Given the description of an element on the screen output the (x, y) to click on. 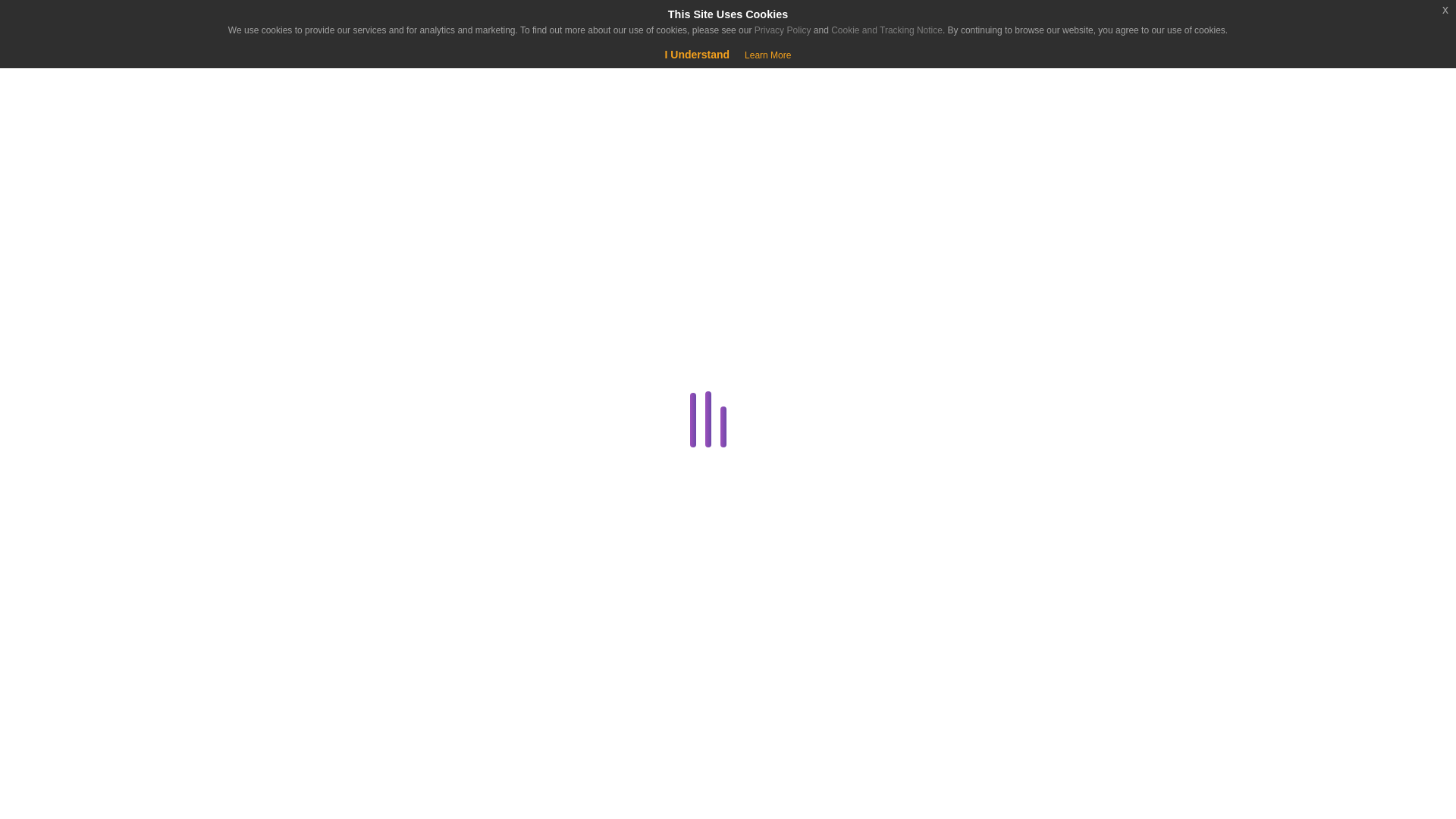
Qeydiyyat (129, 76)
FTP (283, 640)
Databases (281, 458)
Affiliates (283, 312)
Shopping Cart (59, 76)
Domains API (283, 567)
Hesab (93, 23)
Domains and DNS (281, 531)
Billing (281, 349)
Email (281, 604)
cPanel (281, 422)
Linux Administration (281, 750)
Hosting Dashboard (281, 713)
Colocation Guides (283, 385)
General (281, 677)
